Given the description of an element on the screen output the (x, y) to click on. 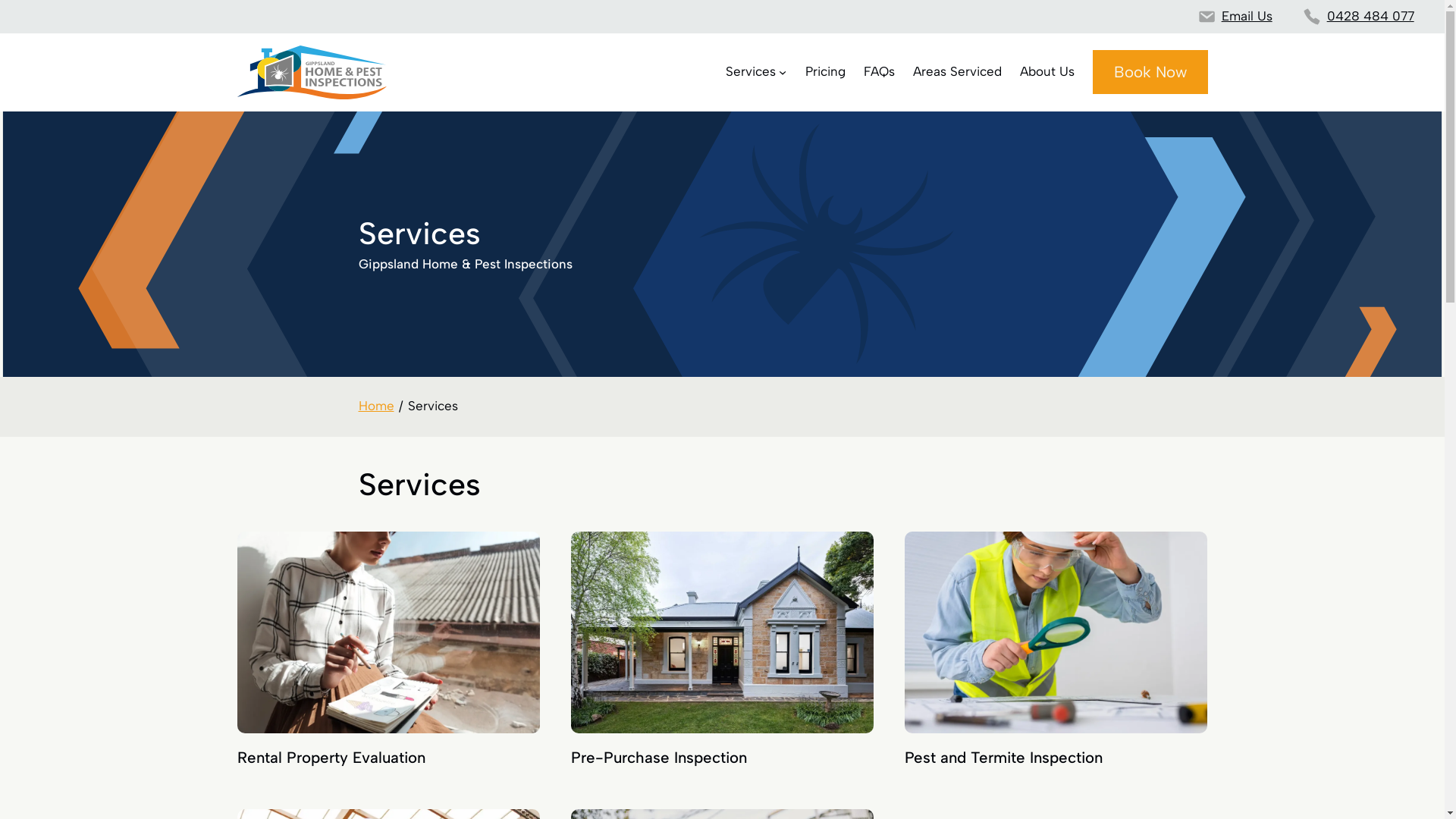
Services Element type: text (750, 71)
About Us Element type: text (1046, 71)
Home Element type: text (375, 406)
0428 484 077 Element type: text (1370, 15)
FAQs Element type: text (878, 71)
Areas Serviced Element type: text (957, 71)
Pricing Element type: text (825, 71)
Book Now Element type: text (1150, 72)
Email Us Element type: text (1246, 15)
